Given the description of an element on the screen output the (x, y) to click on. 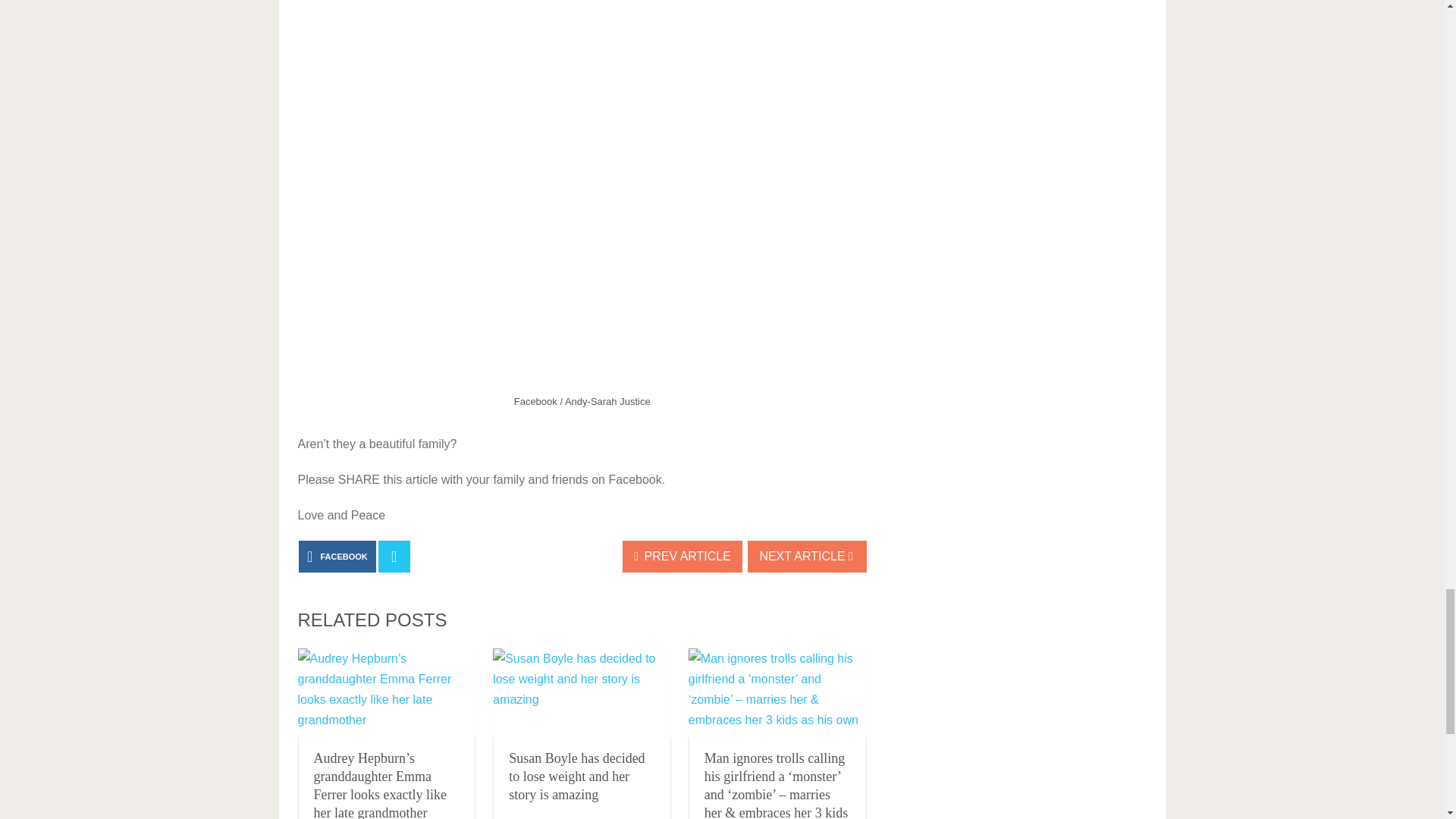
NEXT ARTICLE (807, 556)
PREV ARTICLE (682, 556)
FACEBOOK (336, 556)
